Given the description of an element on the screen output the (x, y) to click on. 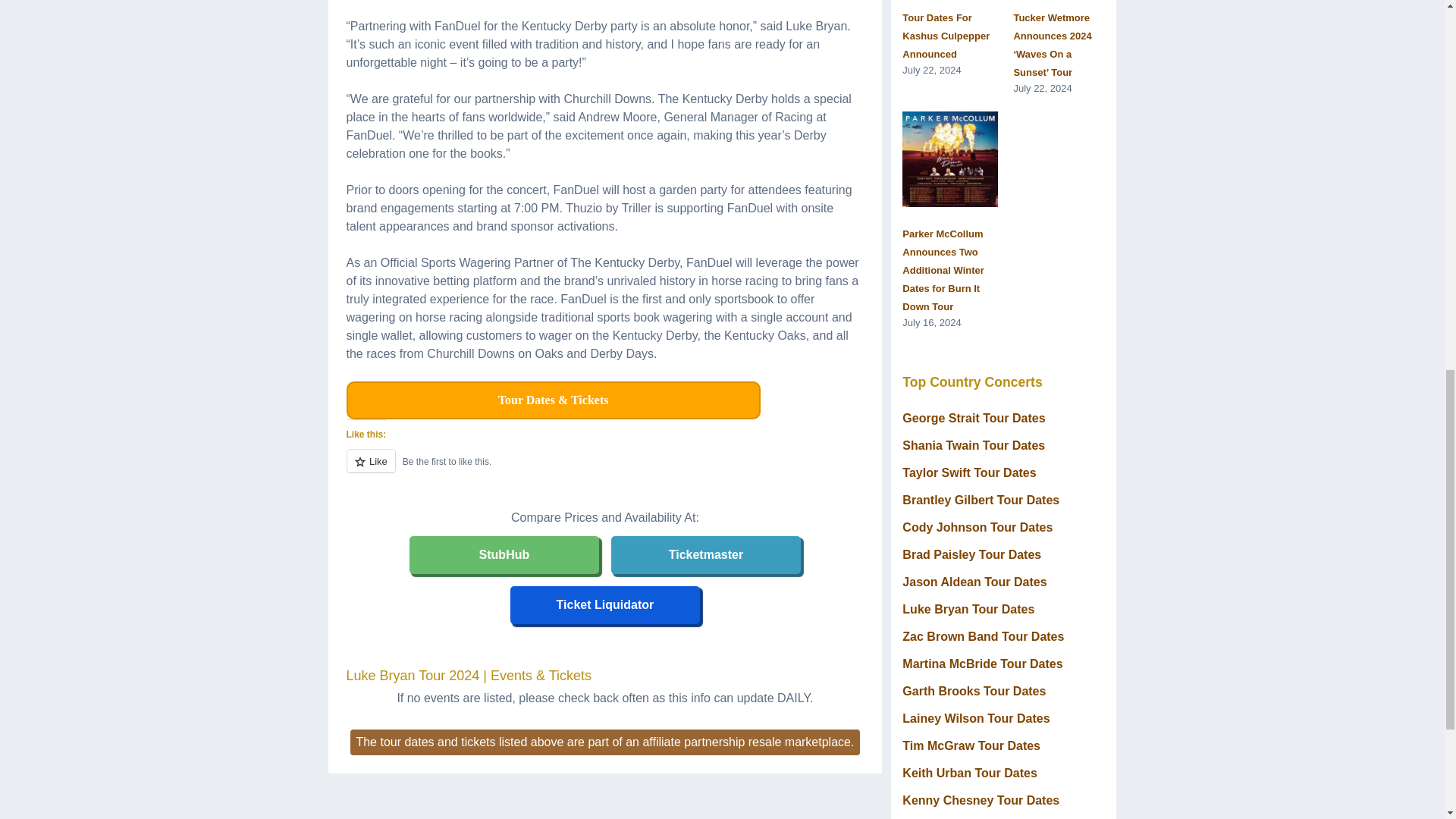
Like or Reblog (604, 469)
Find Luke Bryan Tickets (705, 554)
Find Luke Bryan Tickets (504, 554)
Find Luke Bryan Tickets (604, 604)
